Given the description of an element on the screen output the (x, y) to click on. 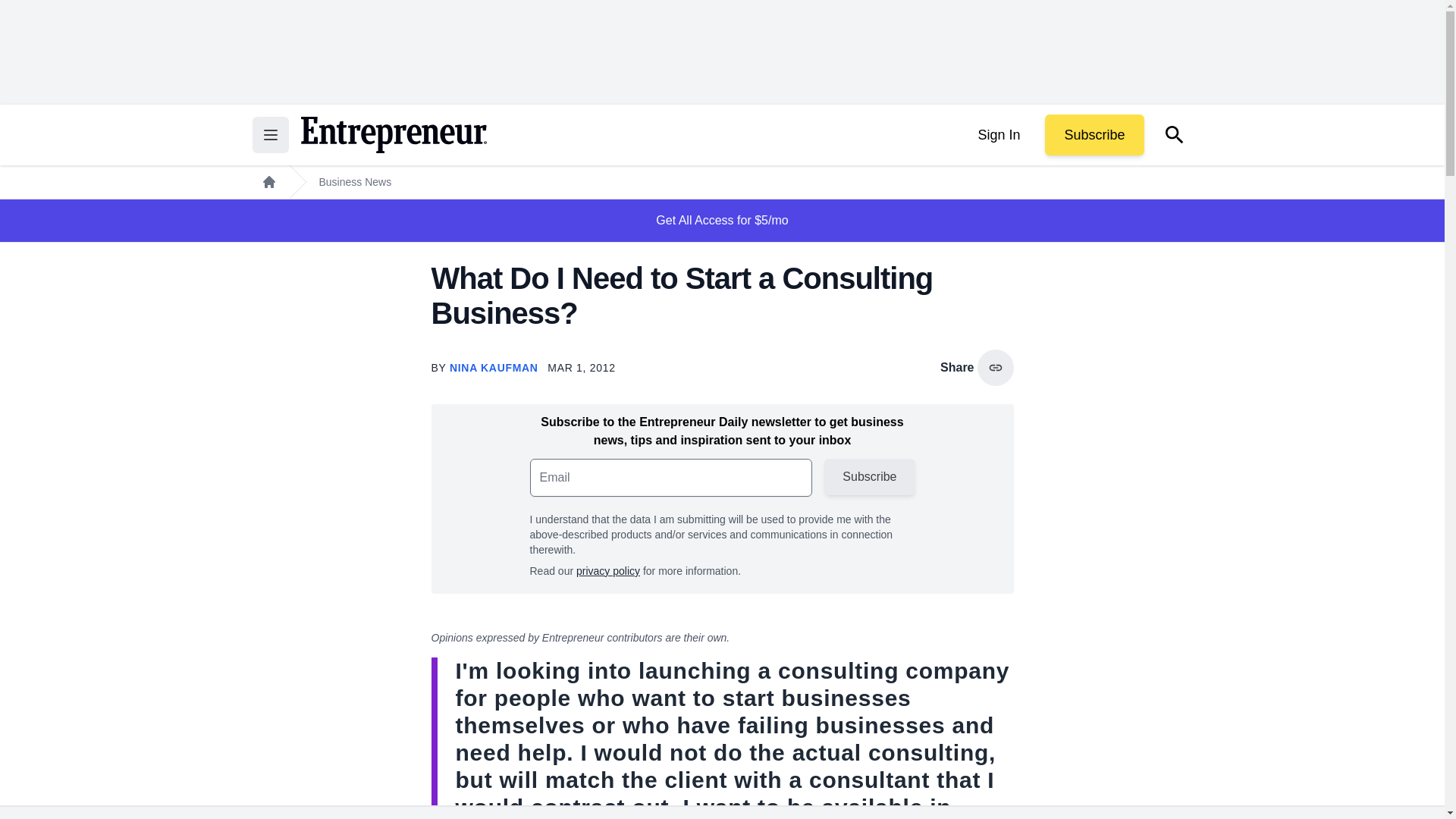
Sign In (998, 134)
Subscribe (1093, 134)
copy (994, 367)
Return to the home page (392, 135)
